Given the description of an element on the screen output the (x, y) to click on. 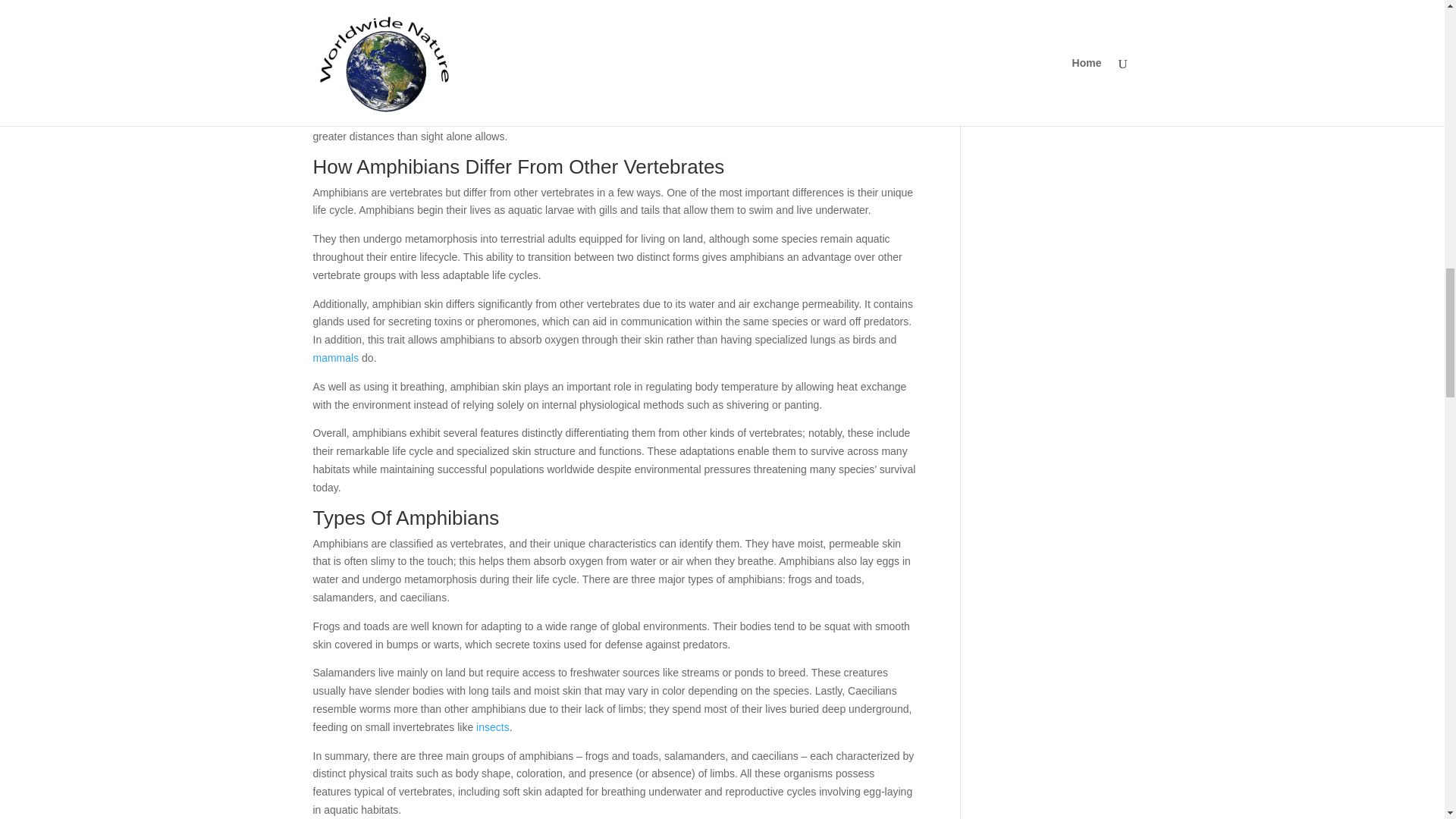
insects (492, 727)
mammals (335, 357)
insects (492, 727)
mammals (335, 357)
